Given the description of an element on the screen output the (x, y) to click on. 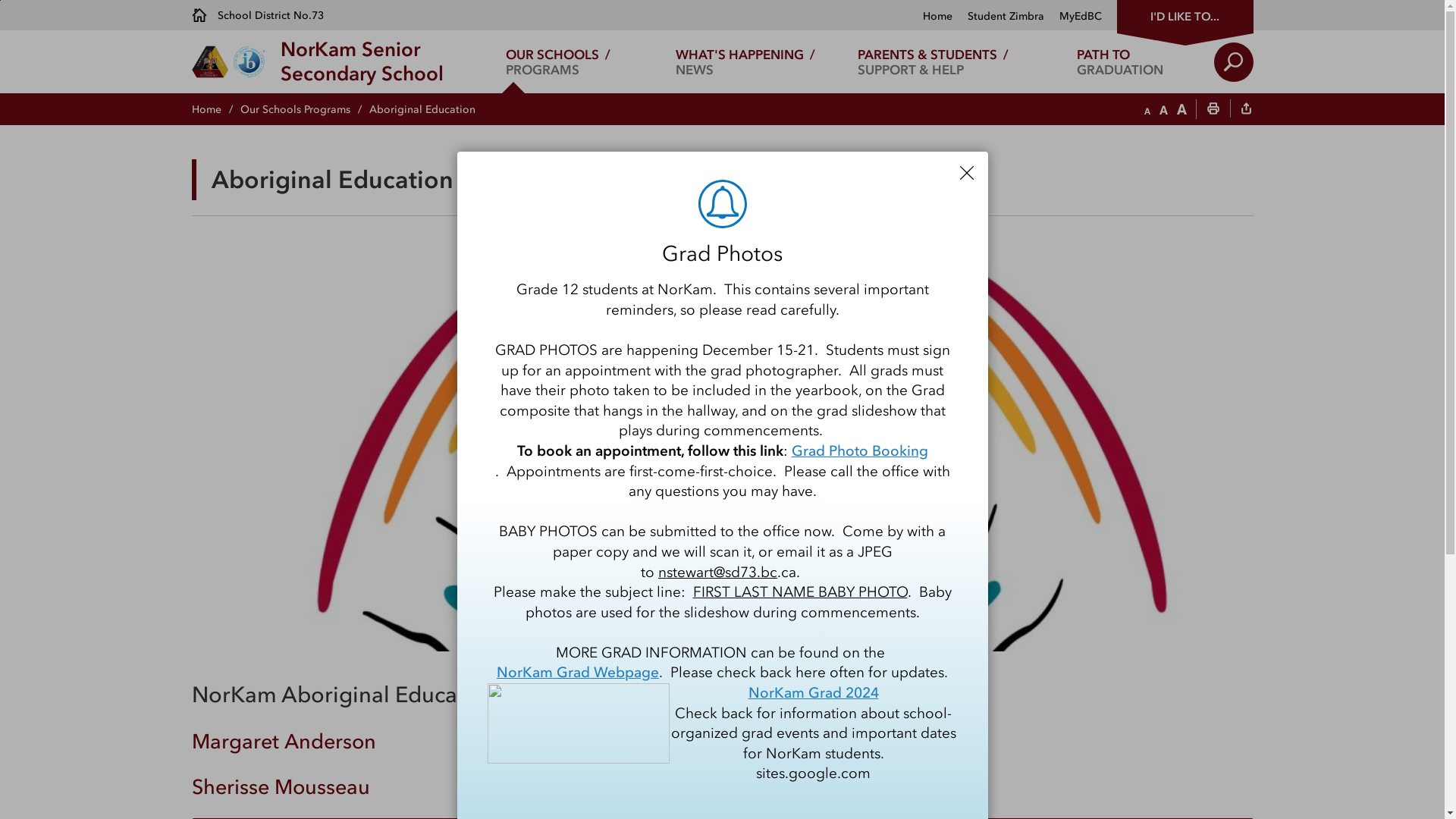
NorKam Senior Secondary School Element type: hover (721, 446)
School District No.73 Element type: text (257, 15)
  Element type: text (1245, 109)
Close Alert Banner Element type: text (966, 172)
Home Element type: text (215, 109)
Increase text size Element type: hover (1181, 109)
Default text size Element type: hover (1162, 109)
Decrease text size Element type: hover (1146, 109)
PATH TO
GRADUATION Element type: text (1120, 61)
Print This Page Element type: hover (1212, 109)
Skip to Content Element type: text (0, 0)
PARENTS & STUDENTS
SUPPORT & HELP Element type: text (932, 61)
WHAT'S HAPPENING
NEWS Element type: text (745, 61)
MyEdBC Element type: text (1072, 15)
Student Zimbra Element type: text (998, 15)
NorKam Grad 2024 Element type: text (812, 693)
I'D LIKE TO... Element type: text (1184, 15)
Home Element type: text (936, 15)
Search Element type: text (1232, 61)
Click to return to the homepage Element type: hover (235, 61)
Our Schools Programs Element type: text (303, 109)
Grad Photo Booking Element type: text (859, 451)
NorKam Grad Webpage Element type: text (577, 672)
OUR SCHOOLS
PROGRAMS Element type: text (557, 61)
Margaret Anderson Element type: text (283, 740)
Sherisse Mousseau Element type: text (280, 786)
NorKam Senior
Secondary School Element type: text (361, 61)
